Given the description of an element on the screen output the (x, y) to click on. 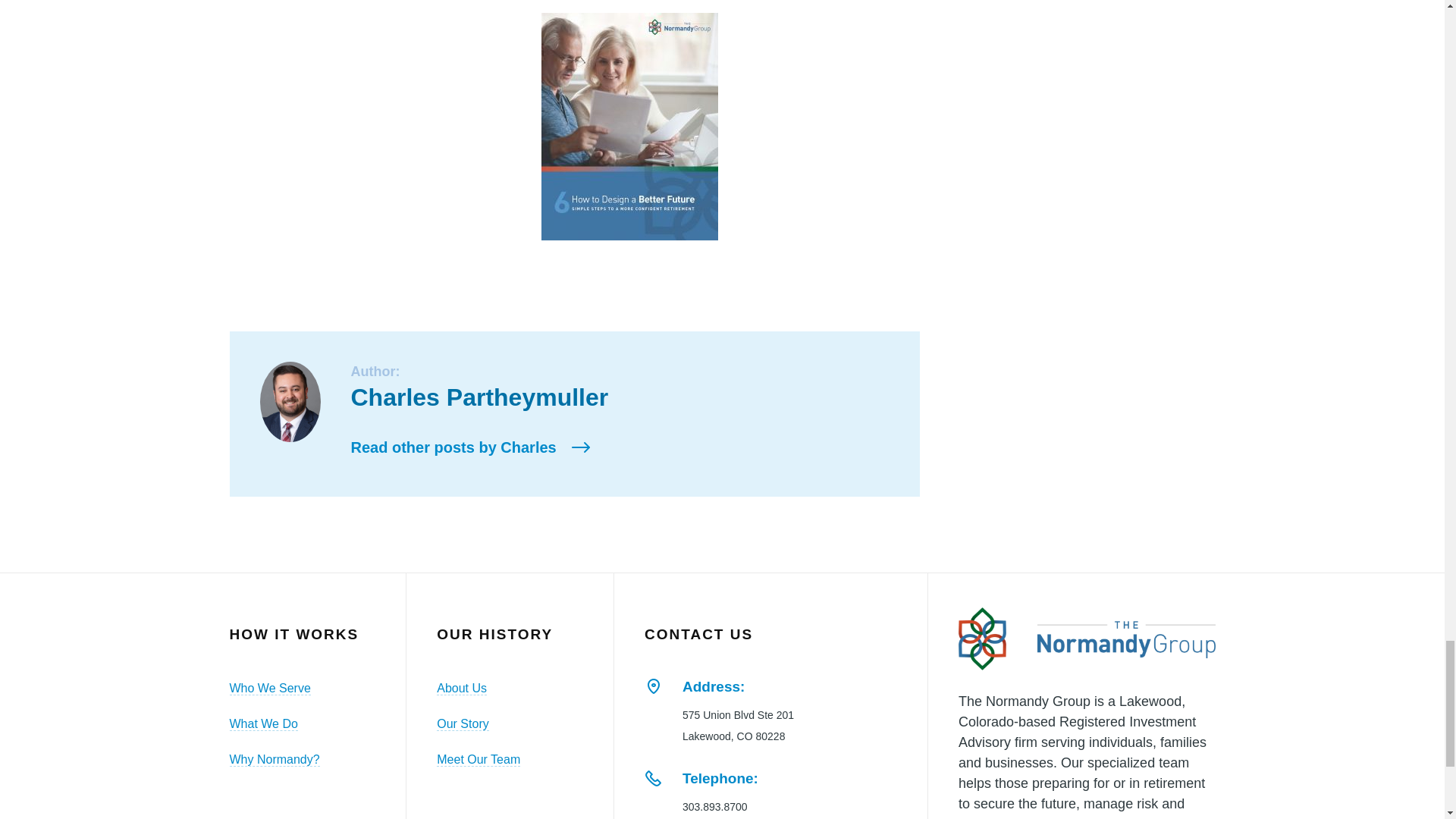
Go to the Google Maps (653, 686)
